Given the description of an element on the screen output the (x, y) to click on. 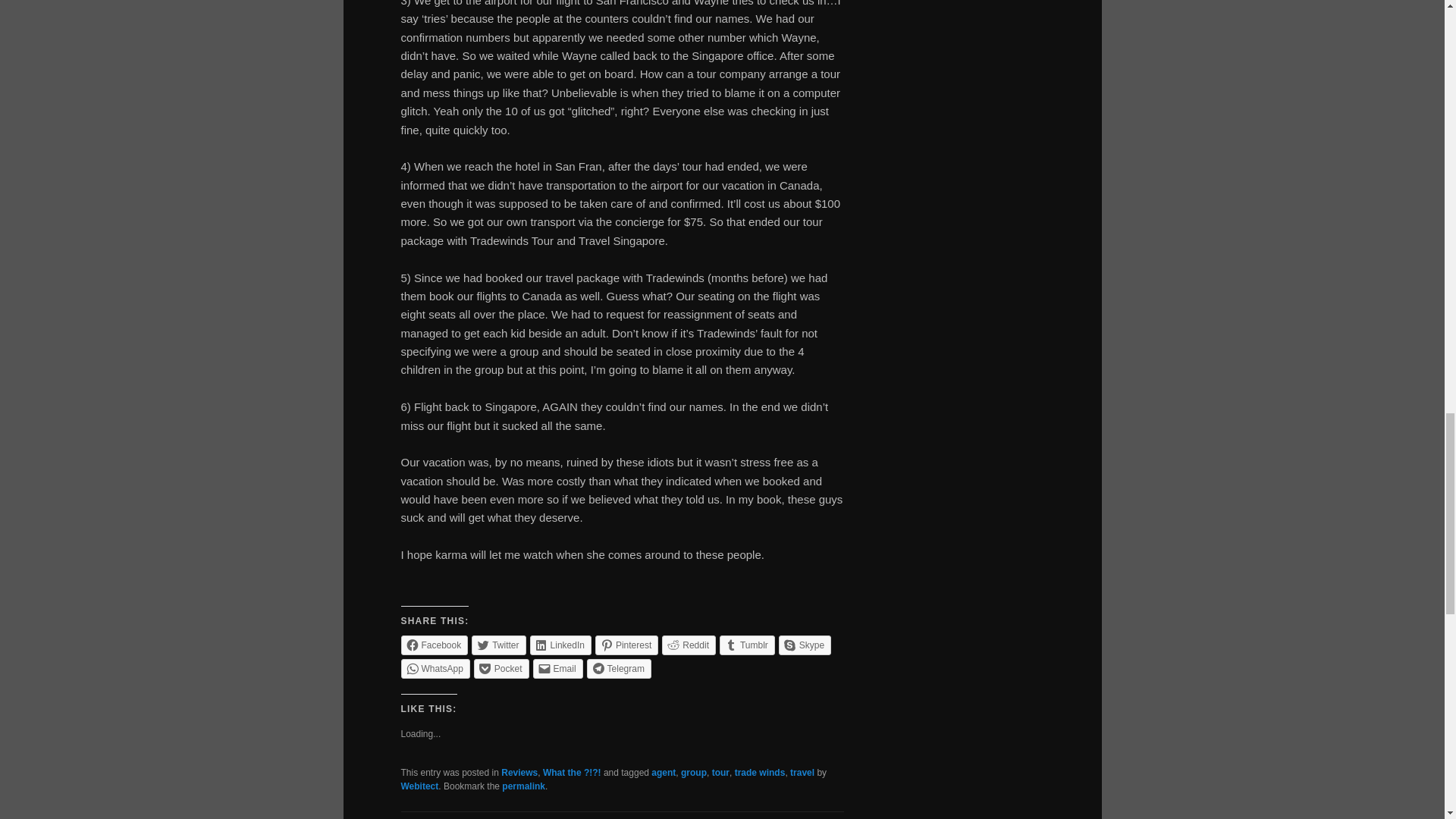
Click to share on Twitter (498, 645)
Click to share on LinkedIn (560, 645)
Click to share on Pinterest (626, 645)
Click to share on Reddit (689, 645)
Click to share on Facebook (433, 645)
Click to share on WhatsApp (434, 668)
Click to share on Skype (804, 645)
Click to share on Tumblr (746, 645)
